Given the description of an element on the screen output the (x, y) to click on. 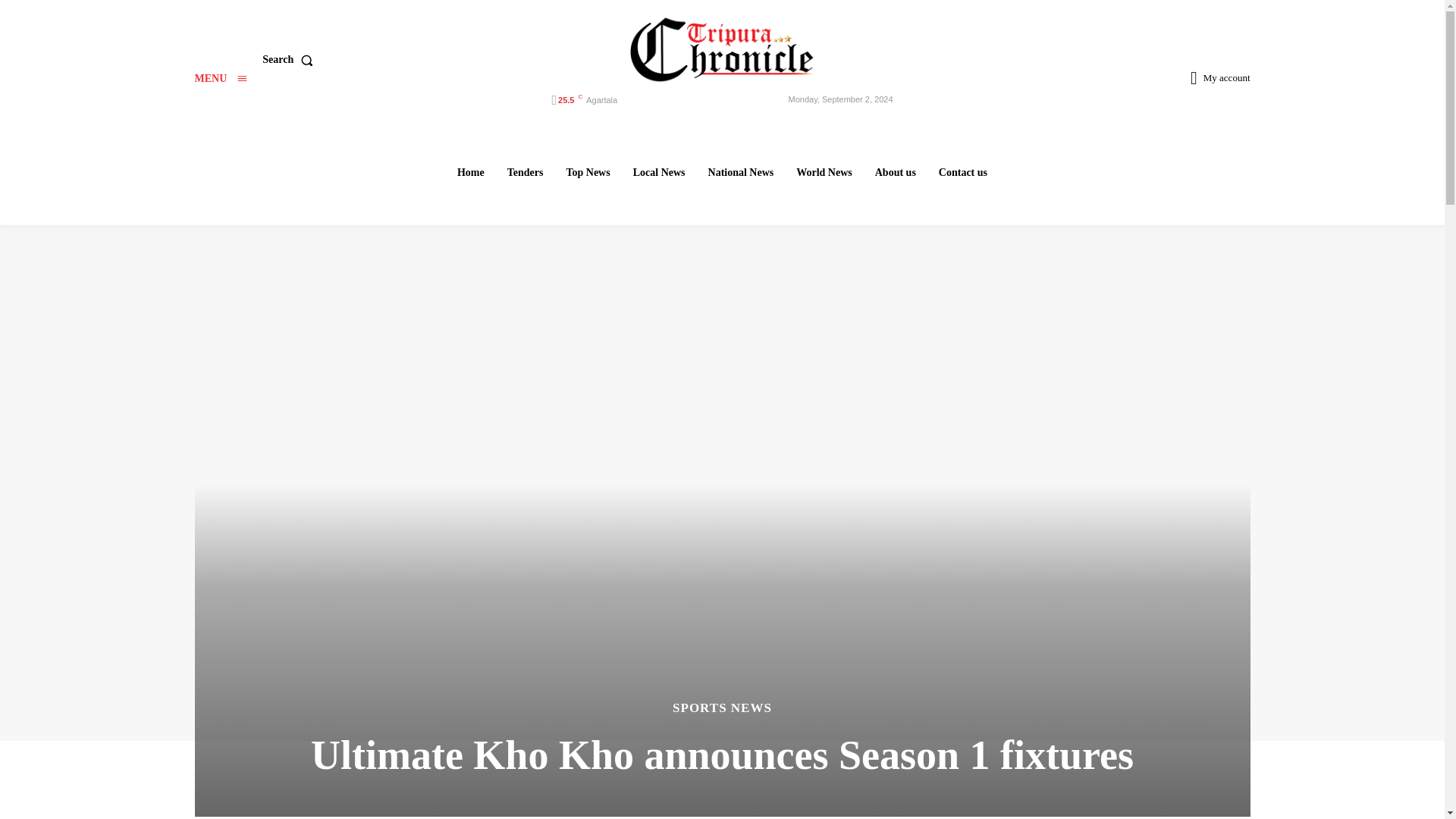
Local News (659, 172)
Search (290, 60)
Top News (587, 172)
Menu (220, 78)
MENU (220, 78)
Tenders (525, 172)
National News (740, 172)
World News (824, 172)
Home (470, 172)
